Given the description of an element on the screen output the (x, y) to click on. 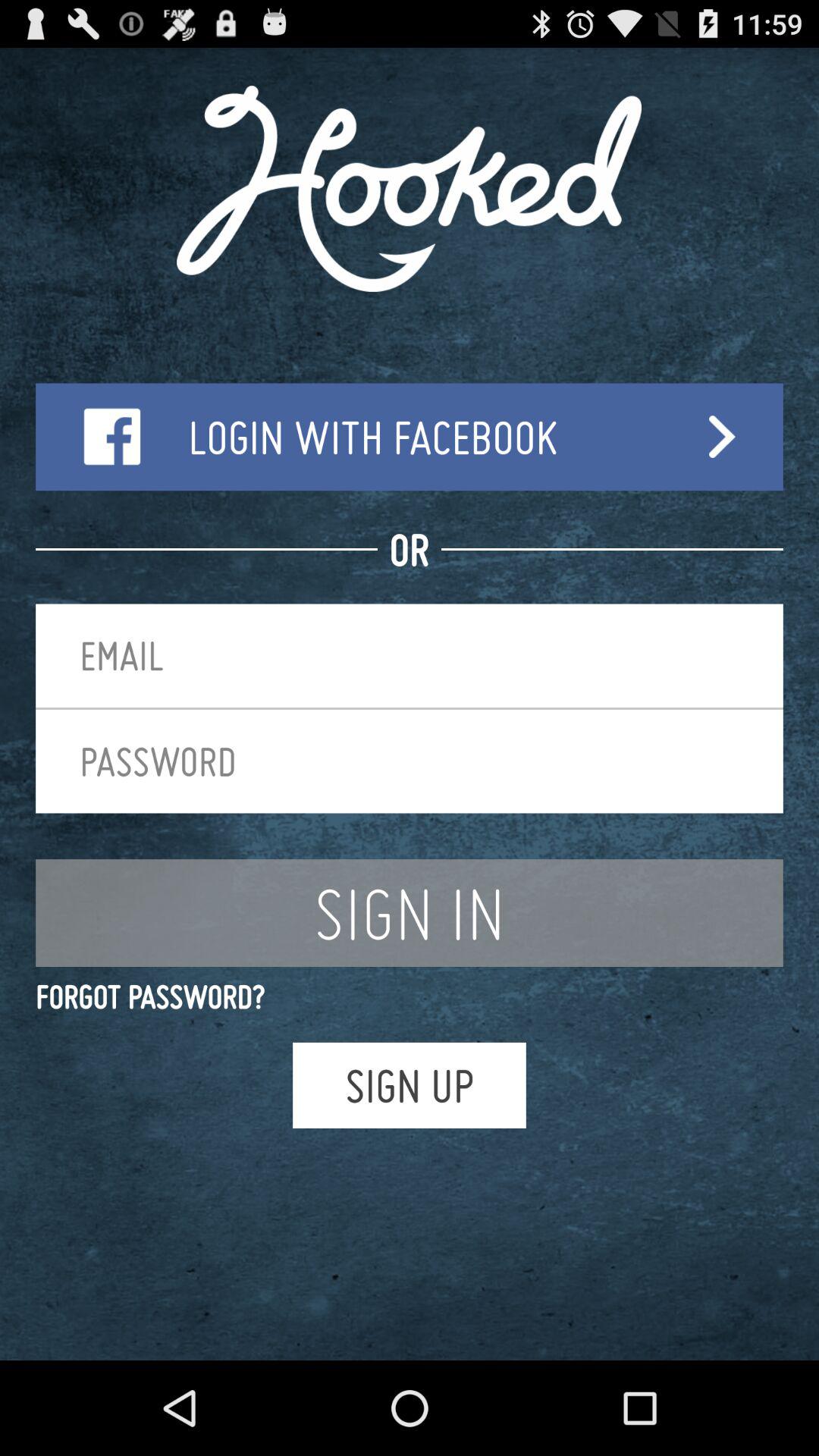
launch the sign up item (409, 1085)
